Given the description of an element on the screen output the (x, y) to click on. 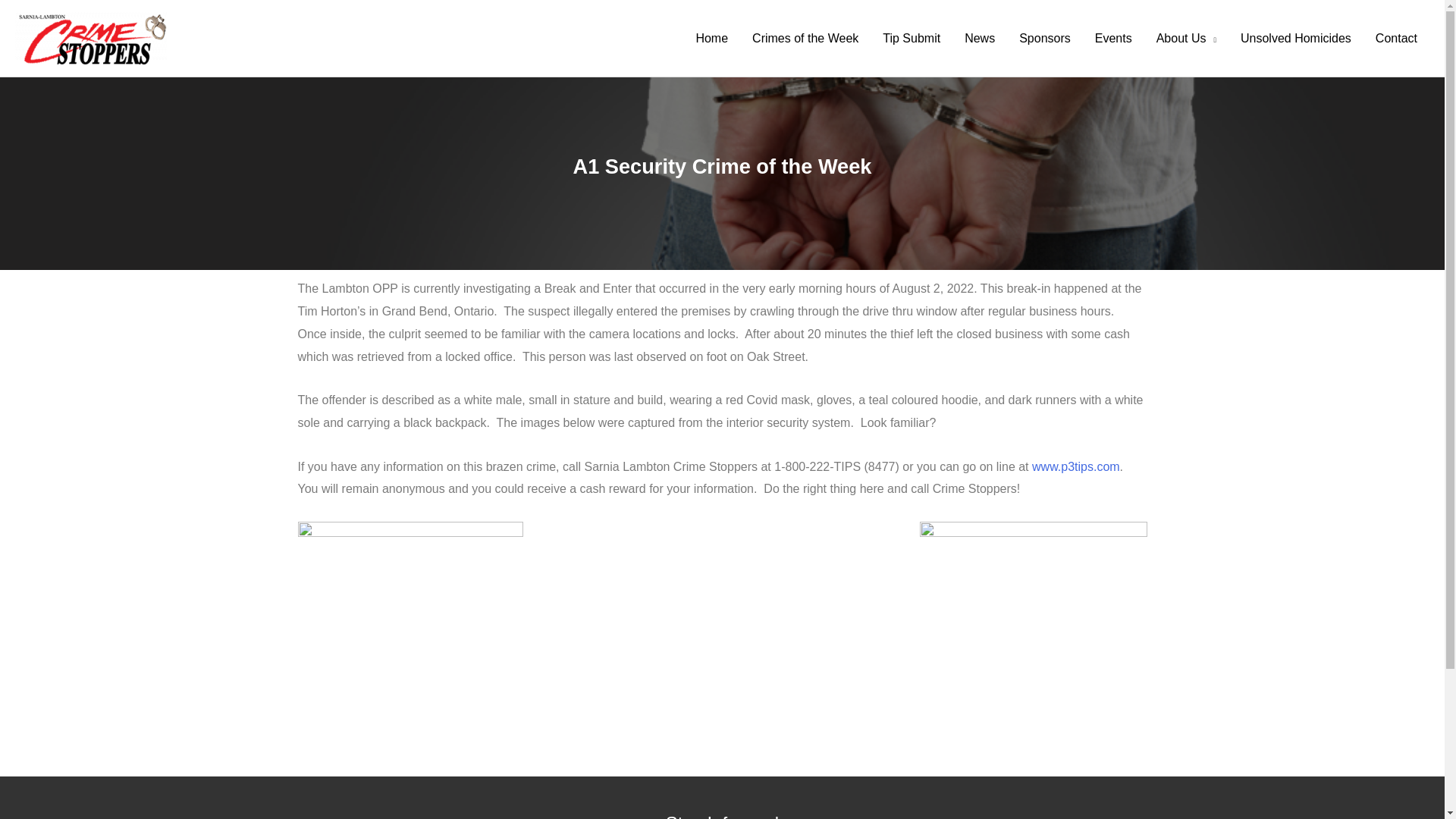
www.p3tips.com (1075, 466)
Tip Submit (911, 38)
Unsolved Homicides (1295, 38)
Events (1113, 38)
Contact (1395, 38)
News (979, 38)
About Us (1186, 38)
Sponsors (1045, 38)
Crimes of the Week (804, 38)
Home (710, 38)
